Given the description of an element on the screen output the (x, y) to click on. 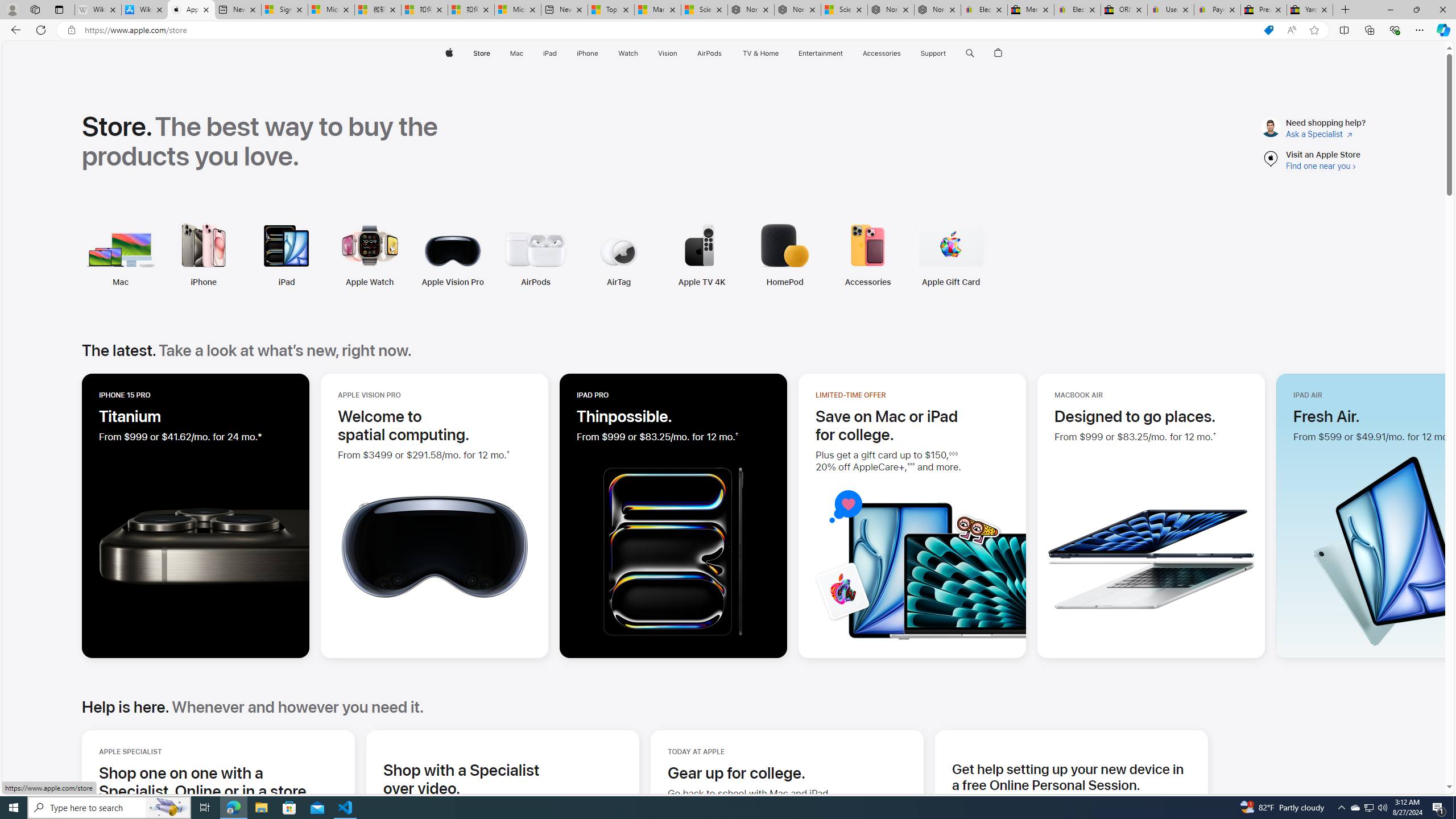
AirTag (618, 281)
Apple (448, 53)
Store (481, 53)
iPhone (202, 281)
Mac (43, 254)
Fresh Air. (1325, 416)
Mac menu (524, 53)
